Given the description of an element on the screen output the (x, y) to click on. 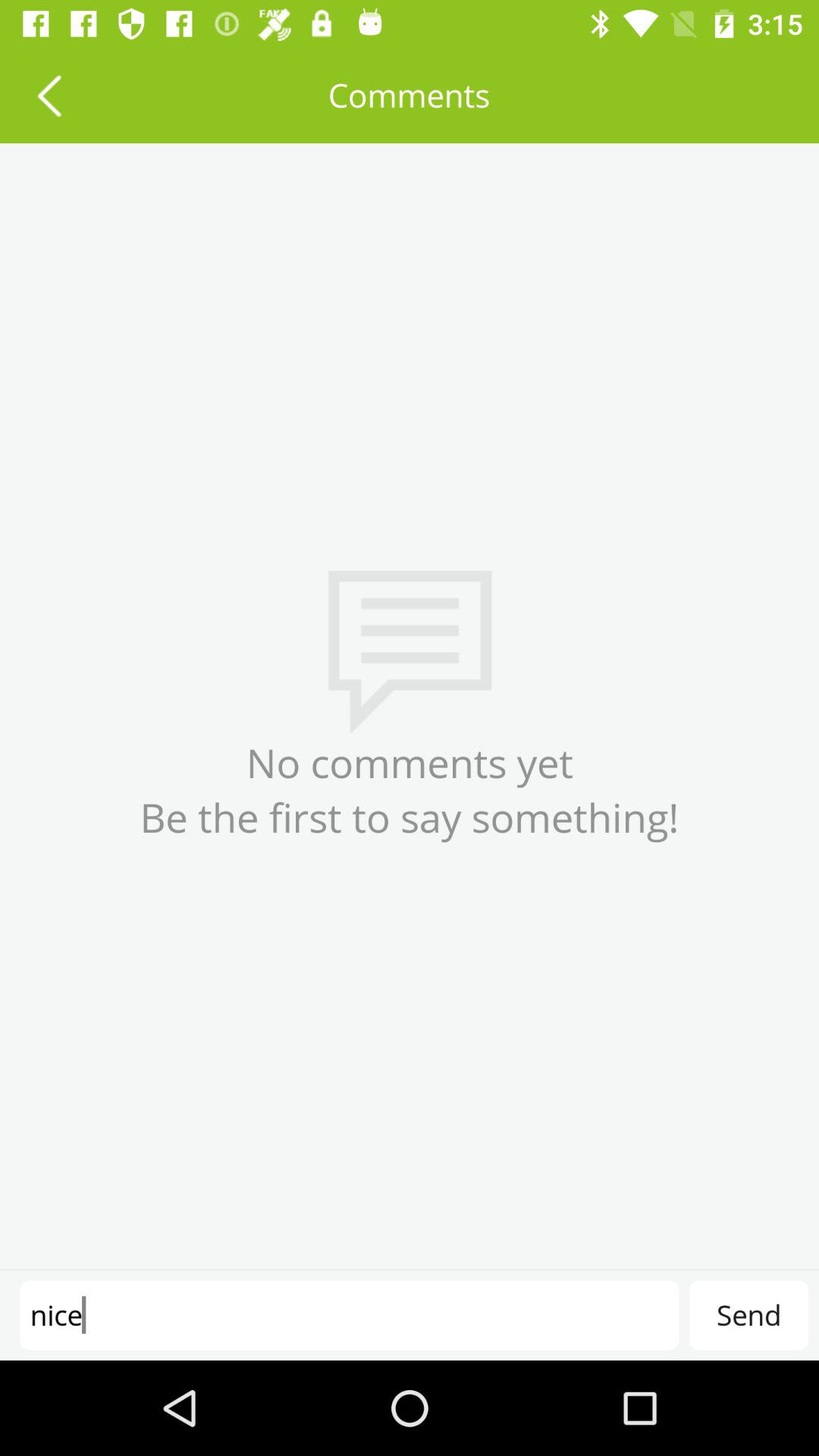
choose item at the bottom right corner (748, 1315)
